Given the description of an element on the screen output the (x, y) to click on. 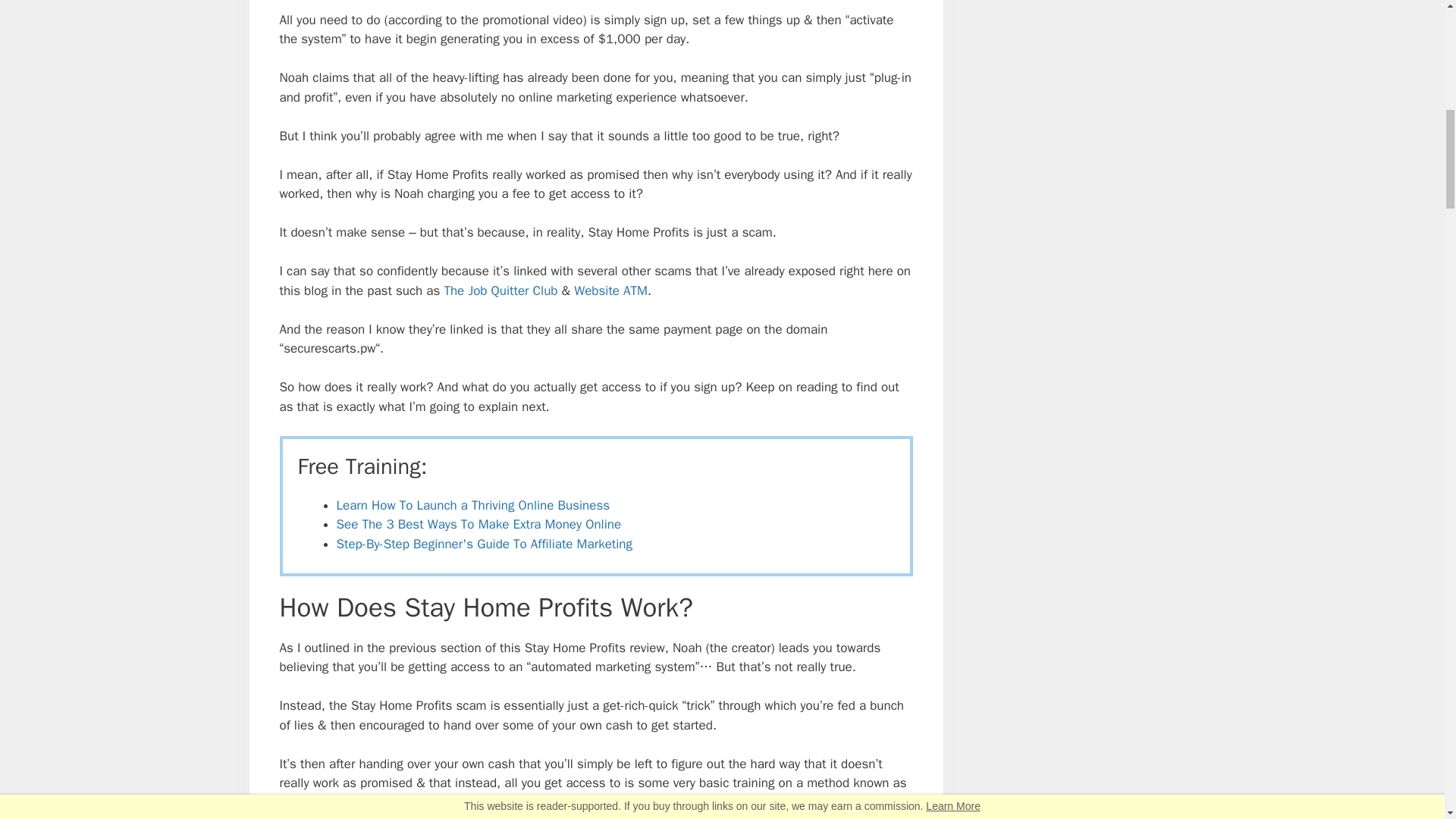
See The 3 Best Ways To Make Extra Money Online (478, 524)
The Job Quitter Club (500, 290)
Learn How To Launch a Thriving Online Business (473, 505)
Website ATM (610, 290)
Step-By-Step Beginner's Guide To Affiliate Marketing (483, 544)
affiliate marketing (329, 802)
